Given the description of an element on the screen output the (x, y) to click on. 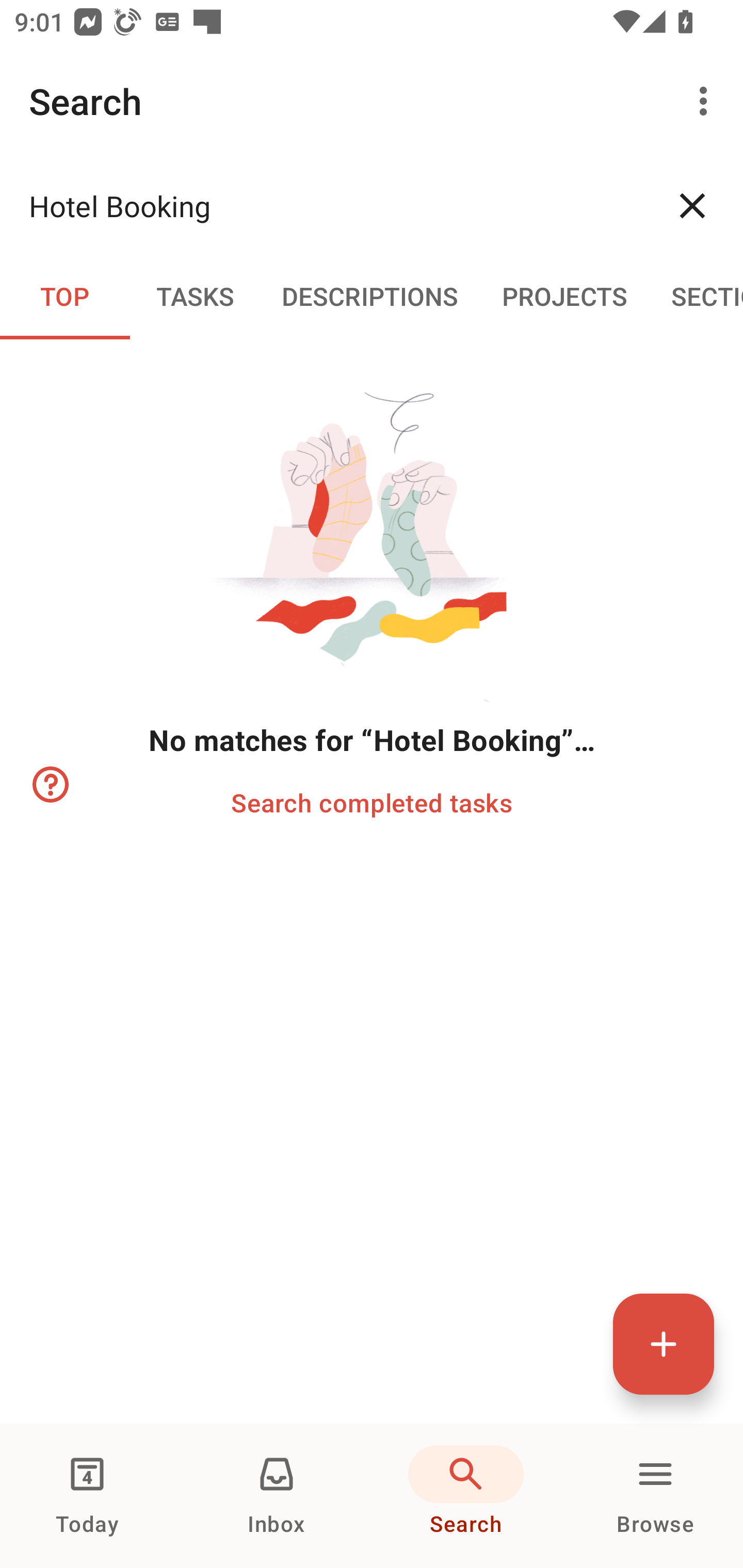
Search More options (371, 100)
More options (706, 101)
Hotel Booking (335, 205)
Clear (692, 205)
Tasks TASKS (195, 295)
Descriptions DESCRIPTIONS (370, 295)
Projects PROJECTS (564, 295)
Learn how to refine your search (48, 784)
Search completed tasks (371, 801)
Quick add (663, 1343)
Today (87, 1495)
Inbox (276, 1495)
Browse (655, 1495)
